Given the description of an element on the screen output the (x, y) to click on. 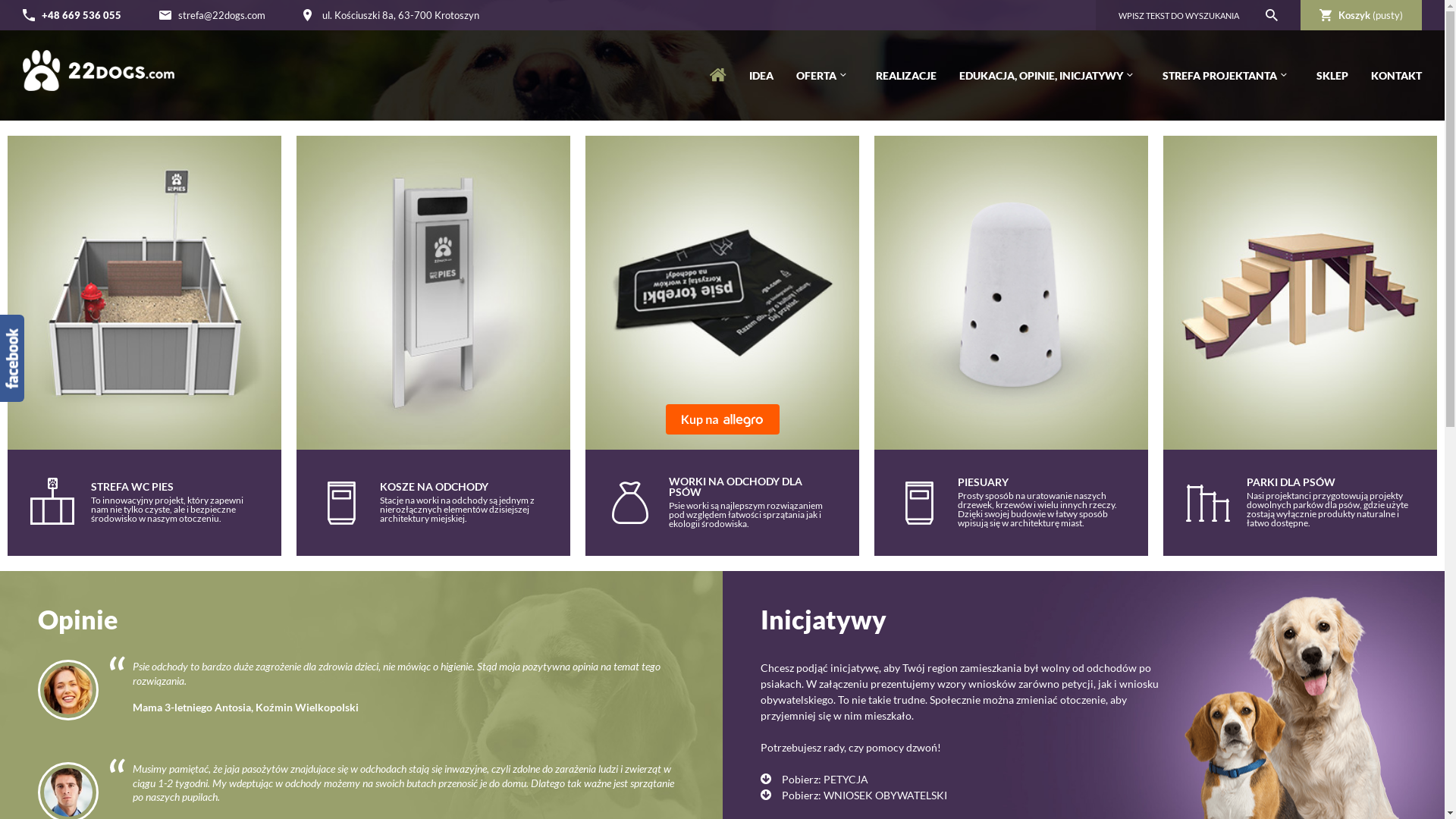
strefa@22dogs.com Element type: text (221, 15)
SKLEP Element type: text (1332, 75)
+48 669 536 055 Element type: text (81, 15)
Pobierz: PETYCJA Element type: text (813, 779)
Pobierz: WNIOSEK OBYWATELSKI Element type: text (852, 795)
Koszyk (pusty) Element type: text (1360, 15)
OFERTA Element type: text (824, 75)
STREFA PROJEKTANTA Element type: text (1227, 75)
REALIZACJE Element type: text (905, 75)
EDUKACJA, OPINIE, INICJATYWY Element type: text (1049, 75)
IDEA Element type: text (761, 75)
KONTAKT Element type: text (1396, 75)
